Given the description of an element on the screen output the (x, y) to click on. 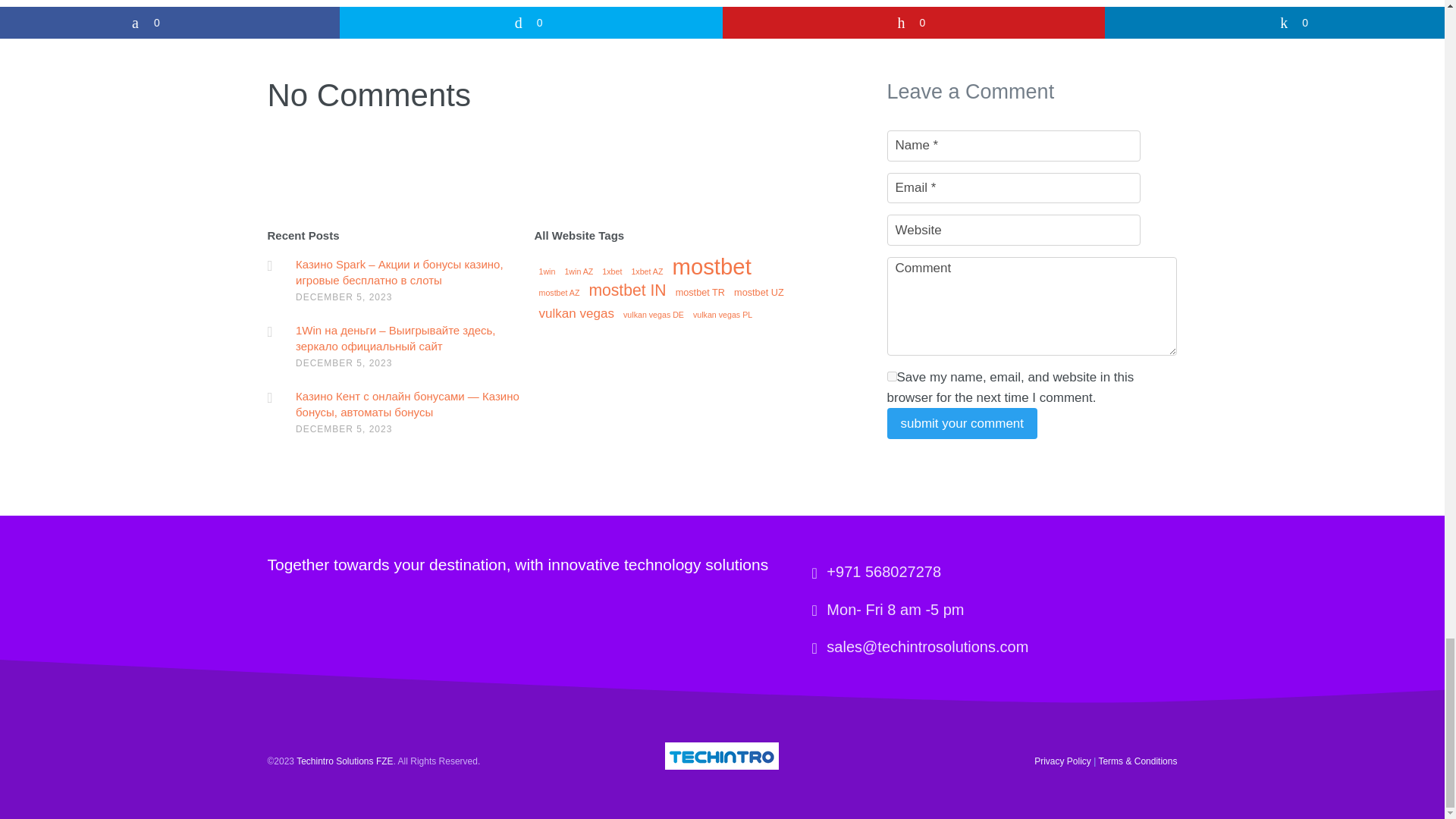
SUBMIT YOUR COMMENT (962, 422)
yes (891, 376)
Share on Pinterest (913, 22)
Share on Twitter (530, 22)
Share on Facebook (169, 22)
